Given the description of an element on the screen output the (x, y) to click on. 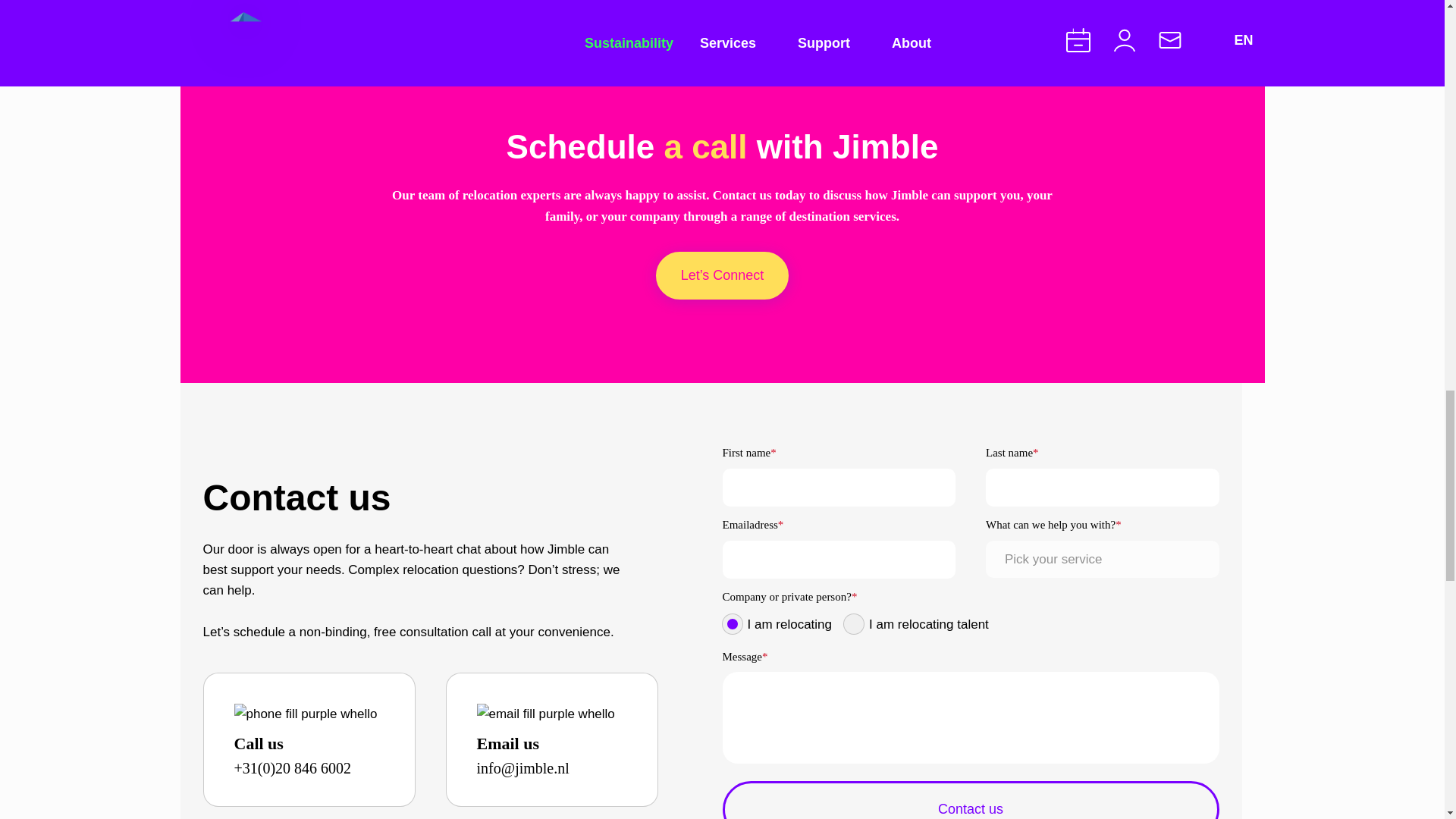
phone-fill-purple-whello (304, 713)
I am relocating (731, 623)
I am relocating talent (853, 623)
email-fill-purple-whello (545, 713)
